Given the description of an element on the screen output the (x, y) to click on. 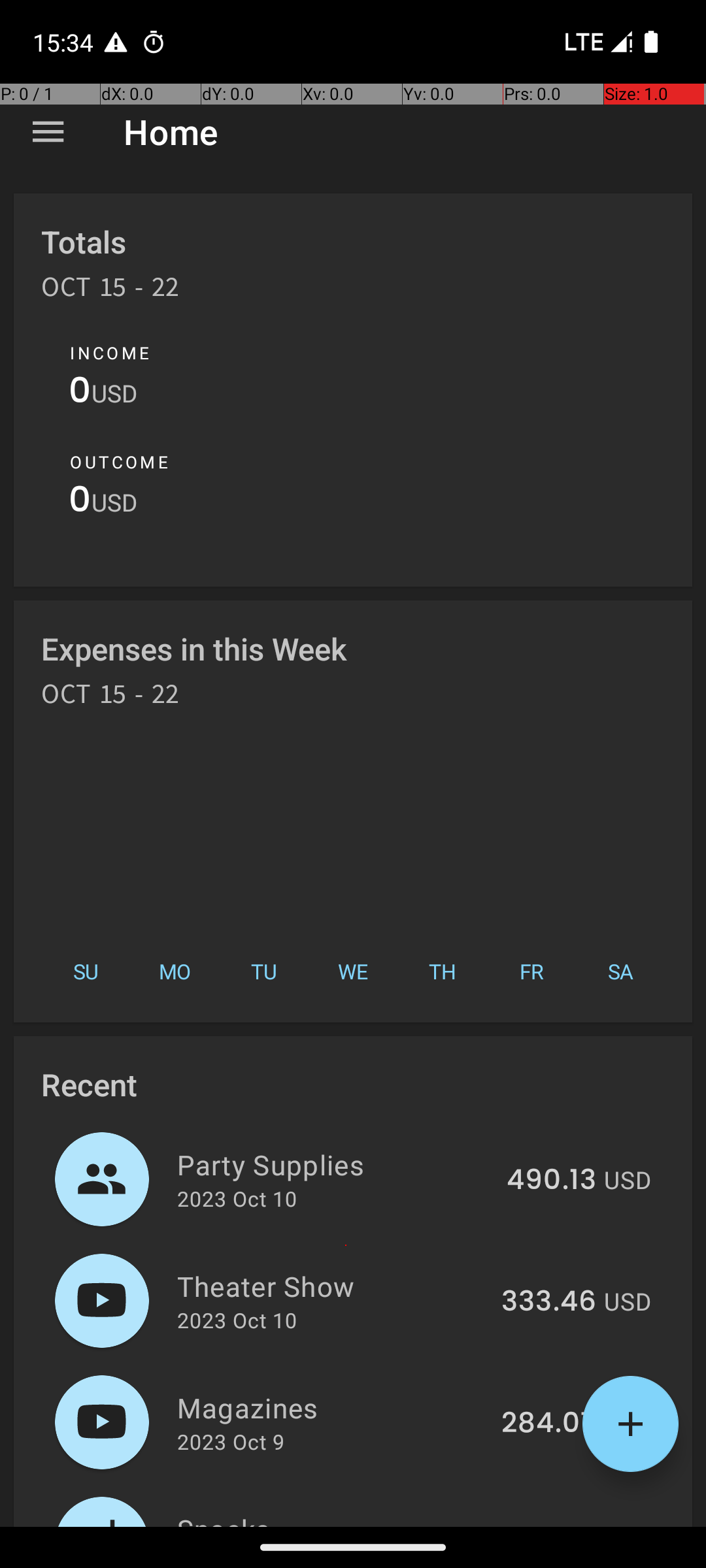
Party Supplies Element type: android.widget.TextView (334, 1164)
2023 Oct 10 Element type: android.widget.TextView (236, 1198)
490.13 Element type: android.widget.TextView (550, 1180)
Theater Show Element type: android.widget.TextView (331, 1285)
333.46 Element type: android.widget.TextView (548, 1301)
Magazines Element type: android.widget.TextView (331, 1407)
2023 Oct 9 Element type: android.widget.TextView (230, 1441)
284.07 Element type: android.widget.TextView (548, 1423)
Snacks Element type: android.widget.TextView (334, 1518)
481.74 Element type: android.widget.TextView (551, 1524)
